Given the description of an element on the screen output the (x, y) to click on. 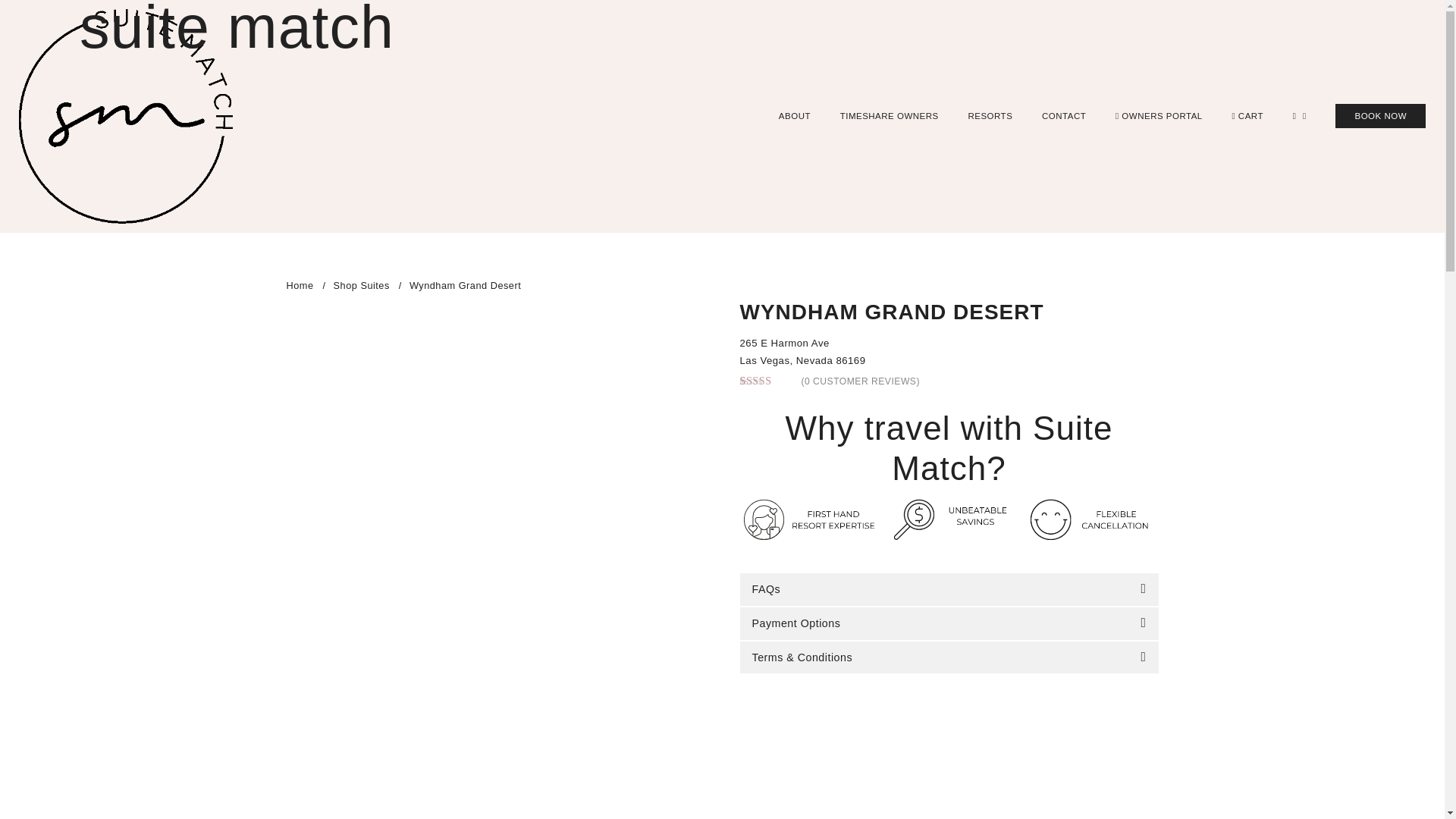
suite match (125, 117)
Shop Suites (361, 285)
BOOK NOW (1380, 115)
 CART (1247, 115)
RESORTS (989, 115)
OWNERS PORTAL (1158, 115)
ABOUT (794, 115)
Home (300, 285)
TIMESHARE OWNERS (889, 115)
CONTACT (1064, 115)
